Given the description of an element on the screen output the (x, y) to click on. 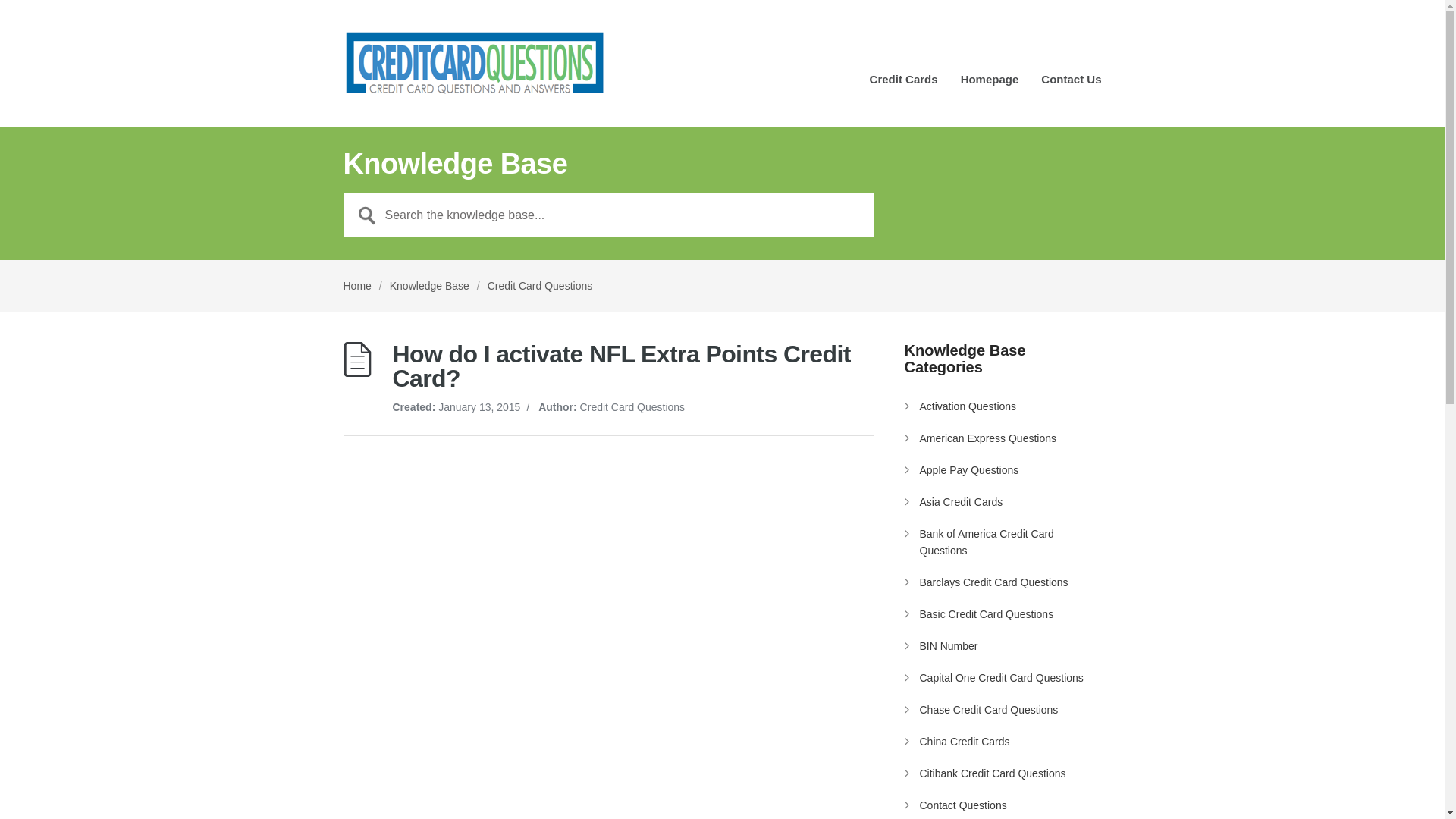
Credit Card Questions (539, 285)
American Express Questions (987, 438)
Search the knowledge base... (607, 215)
Contact Us (1070, 84)
Knowledge Base (429, 285)
Apple Pay Questions (967, 469)
Home (356, 285)
Chase Credit Card Questions (988, 709)
Capital One Credit Card Questions (1000, 677)
Citibank Credit Card Questions (991, 773)
Asia Credit Cards (960, 501)
Activation Questions (967, 406)
Basic Credit Card Questions (985, 613)
Bank of America Credit Card Questions (985, 541)
Credit Card Questions (473, 63)
